Given the description of an element on the screen output the (x, y) to click on. 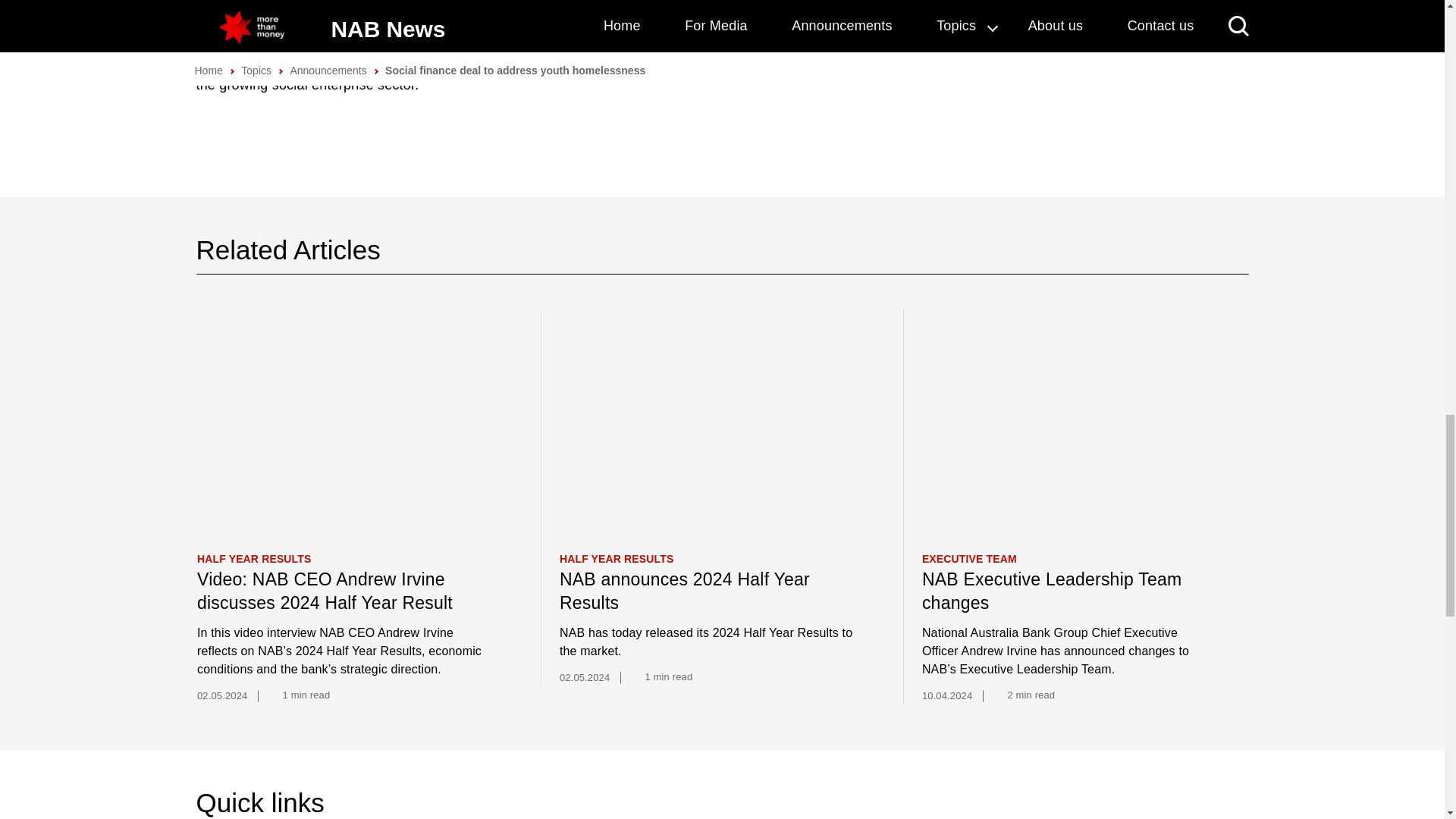
Video: NAB CEO Andrew Irvine discusses 2024 Half Year Result (343, 591)
